Given the description of an element on the screen output the (x, y) to click on. 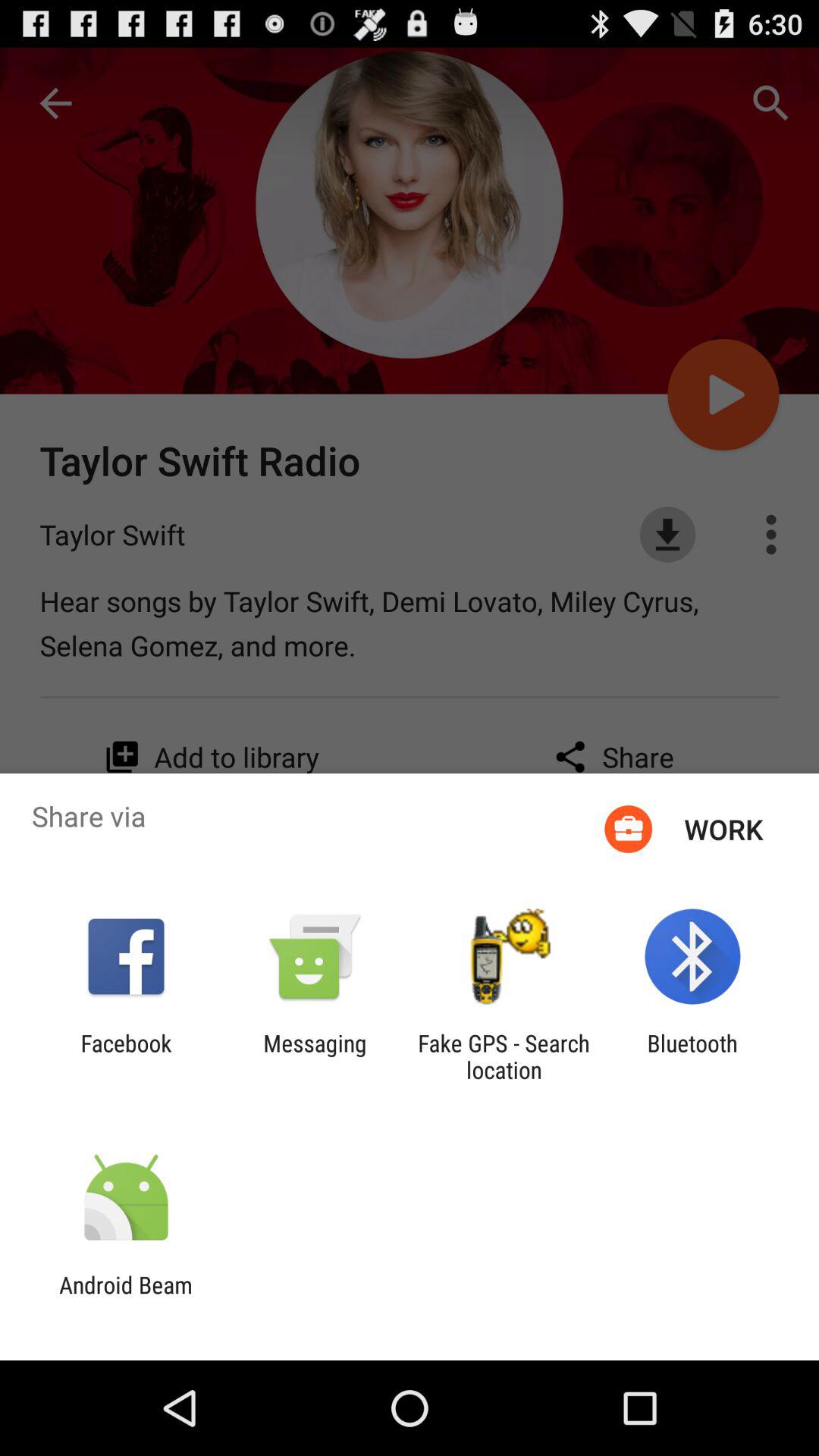
choose bluetooth app (692, 1056)
